Given the description of an element on the screen output the (x, y) to click on. 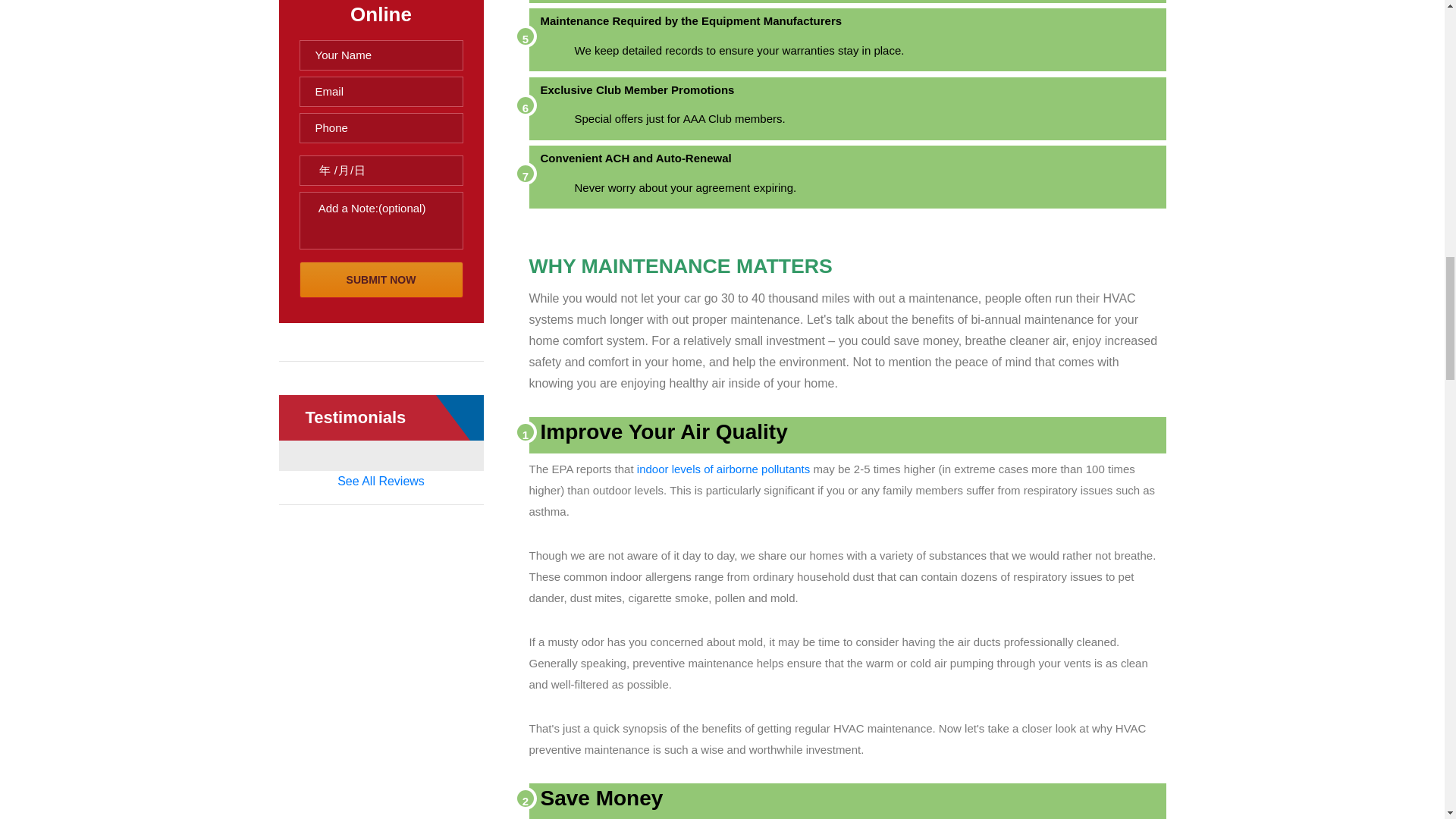
indoor levels of airborne pollutants (723, 468)
Customer Reviews (381, 481)
